Given the description of an element on the screen output the (x, y) to click on. 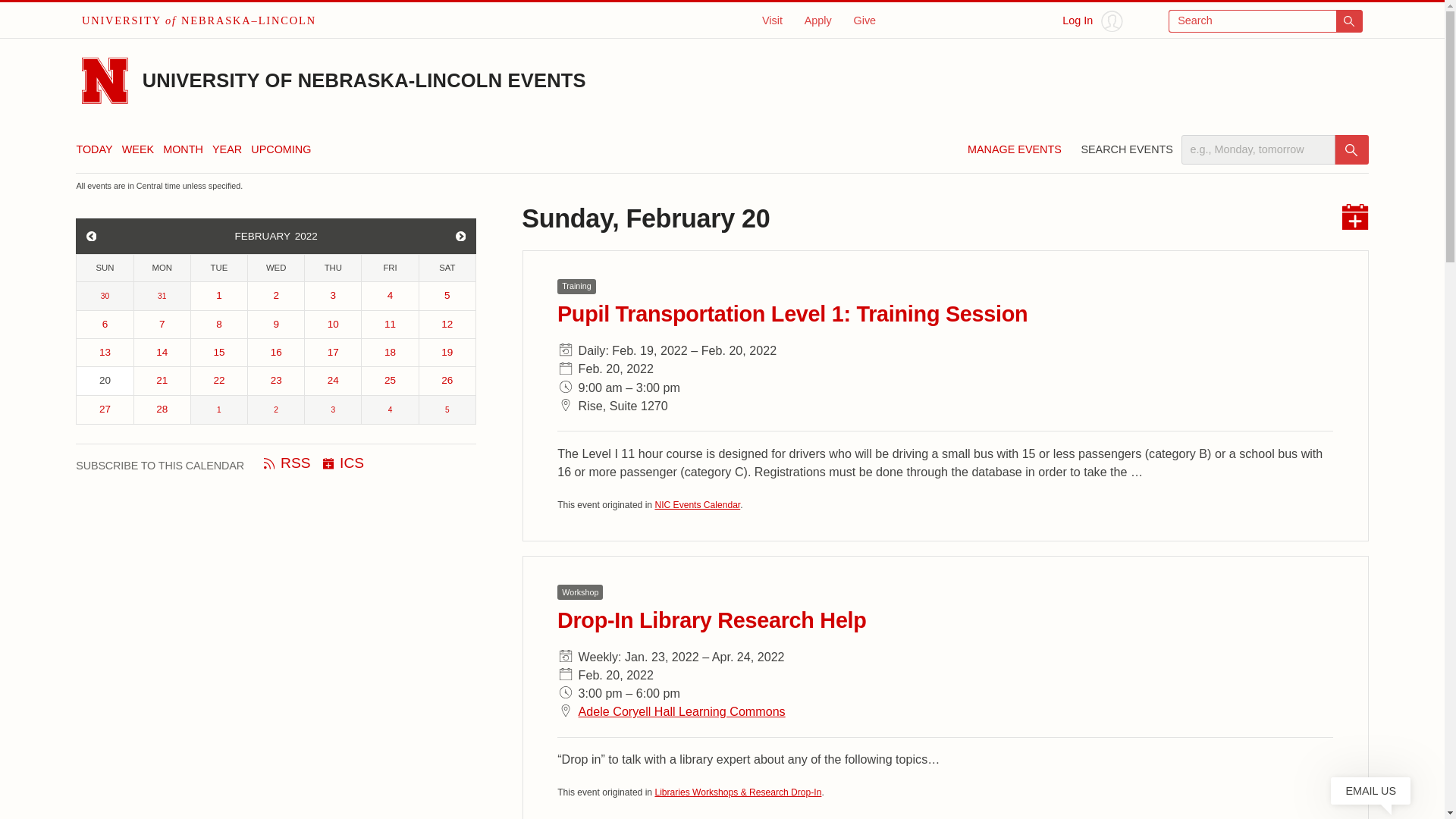
UNIVERSITY OF NEBRASKA-LINCOLN EVENTS (364, 79)
Apply (818, 20)
2022 (312, 235)
UPCOMING (280, 149)
YEAR (226, 149)
Friday (390, 267)
Search (1351, 150)
5 (447, 295)
30 (104, 295)
Thursday (332, 267)
6 (104, 324)
1 (218, 295)
Wednesday (275, 267)
Monday (161, 267)
31 (161, 295)
